Given the description of an element on the screen output the (x, y) to click on. 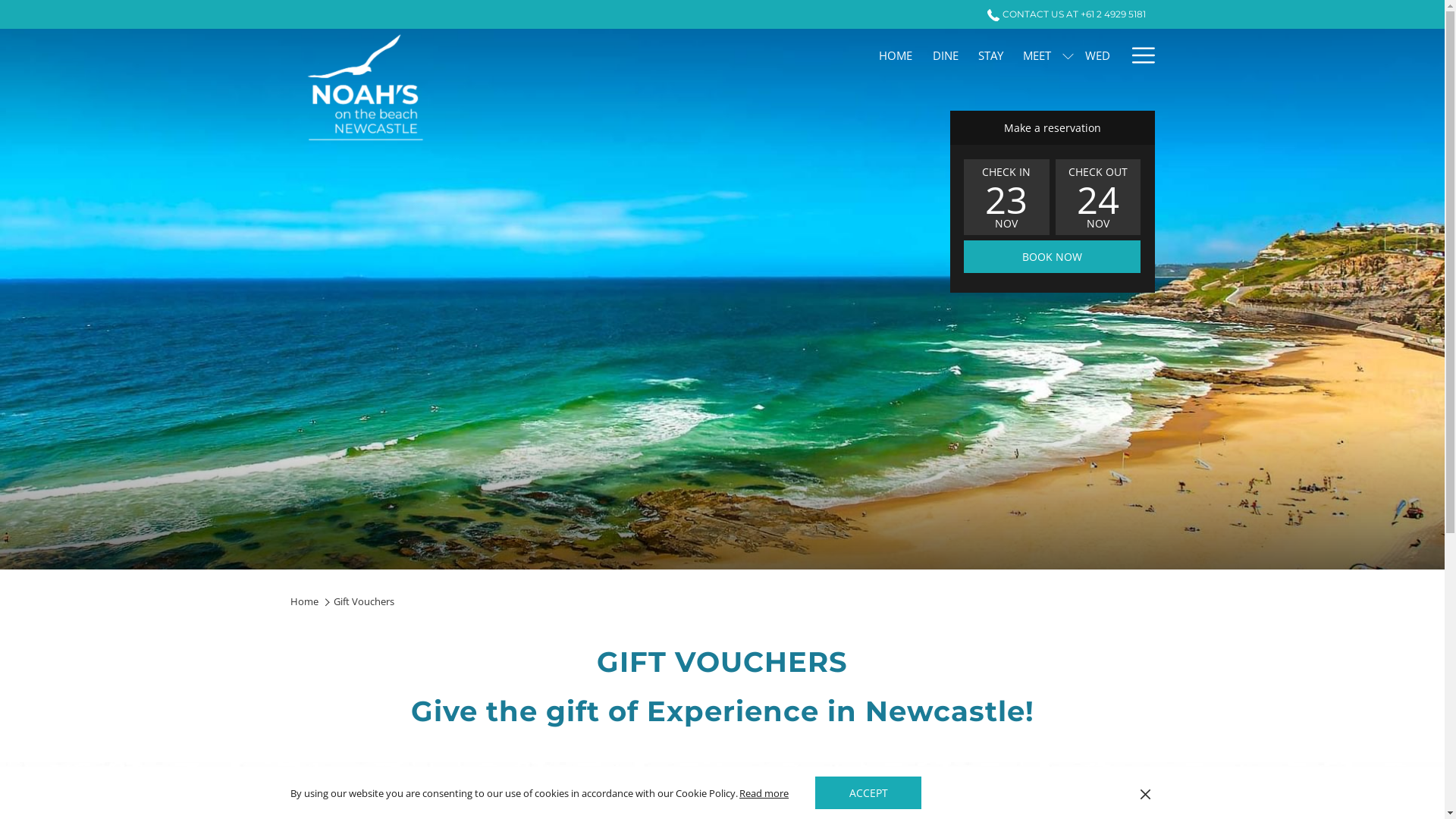
HOME Element type: text (895, 54)
ACCEPT Element type: text (868, 792)
CONTACT US AT +61 2 4929 5181 Element type: text (1061, 13)
Read more Element type: text (763, 792)
Home Element type: text (304, 601)
WED Element type: text (1097, 54)
BOOK NOW
OPENS IN A NEW TAB Element type: text (1051, 256)
DINE Element type: text (944, 54)
More link
Menu Element type: text (1137, 54)
MEET Element type: text (1036, 54)
Gift Vouchers Element type: text (363, 601)
STAY Element type: text (990, 54)
Back to the homepage Element type: hover (365, 92)
